Given the description of an element on the screen output the (x, y) to click on. 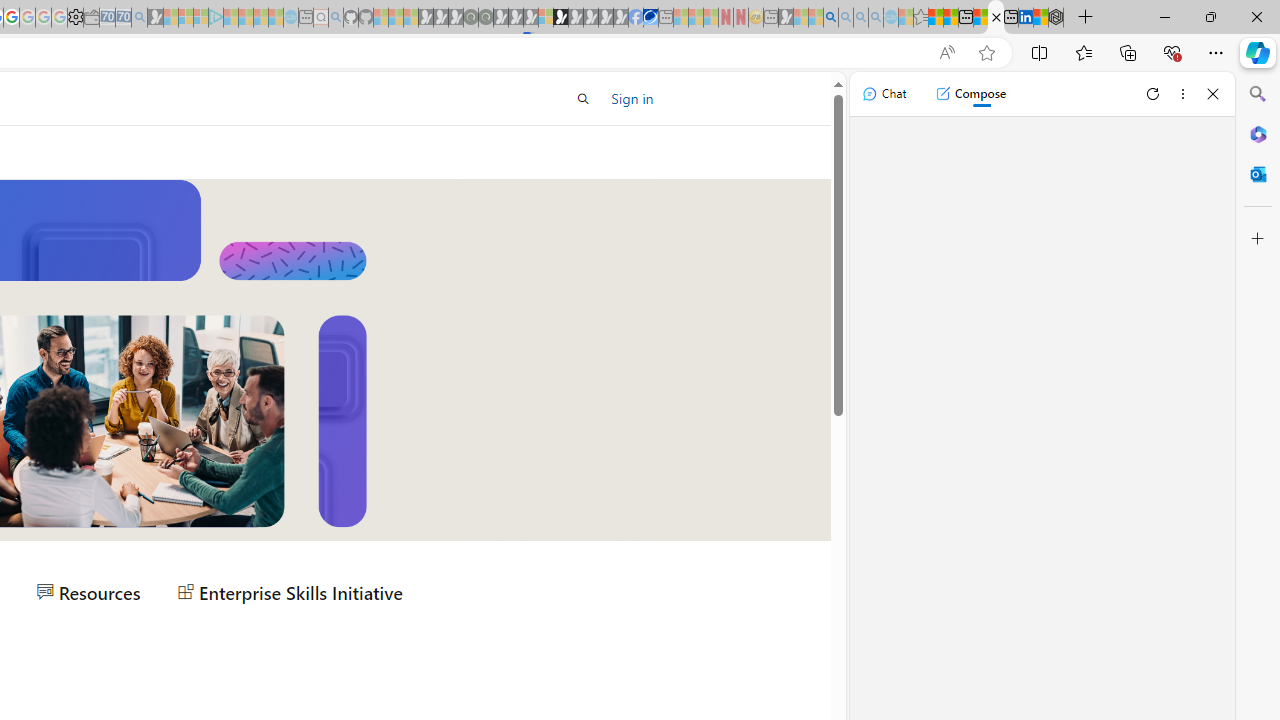
Bing AI - Search (831, 17)
Sign in to your account - Sleeping (545, 17)
